Given the description of an element on the screen output the (x, y) to click on. 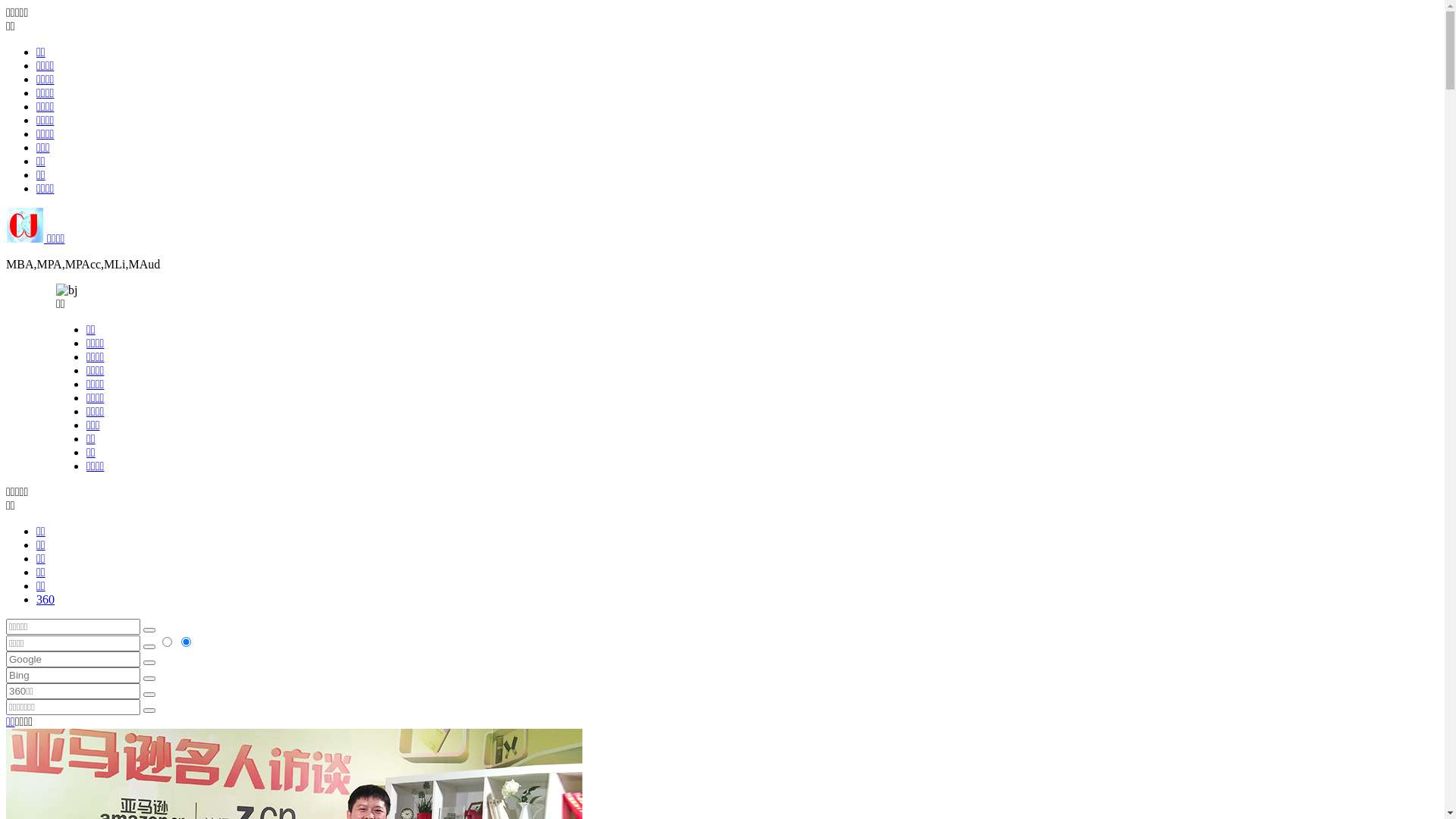
360 Element type: text (45, 599)
